Given the description of an element on the screen output the (x, y) to click on. 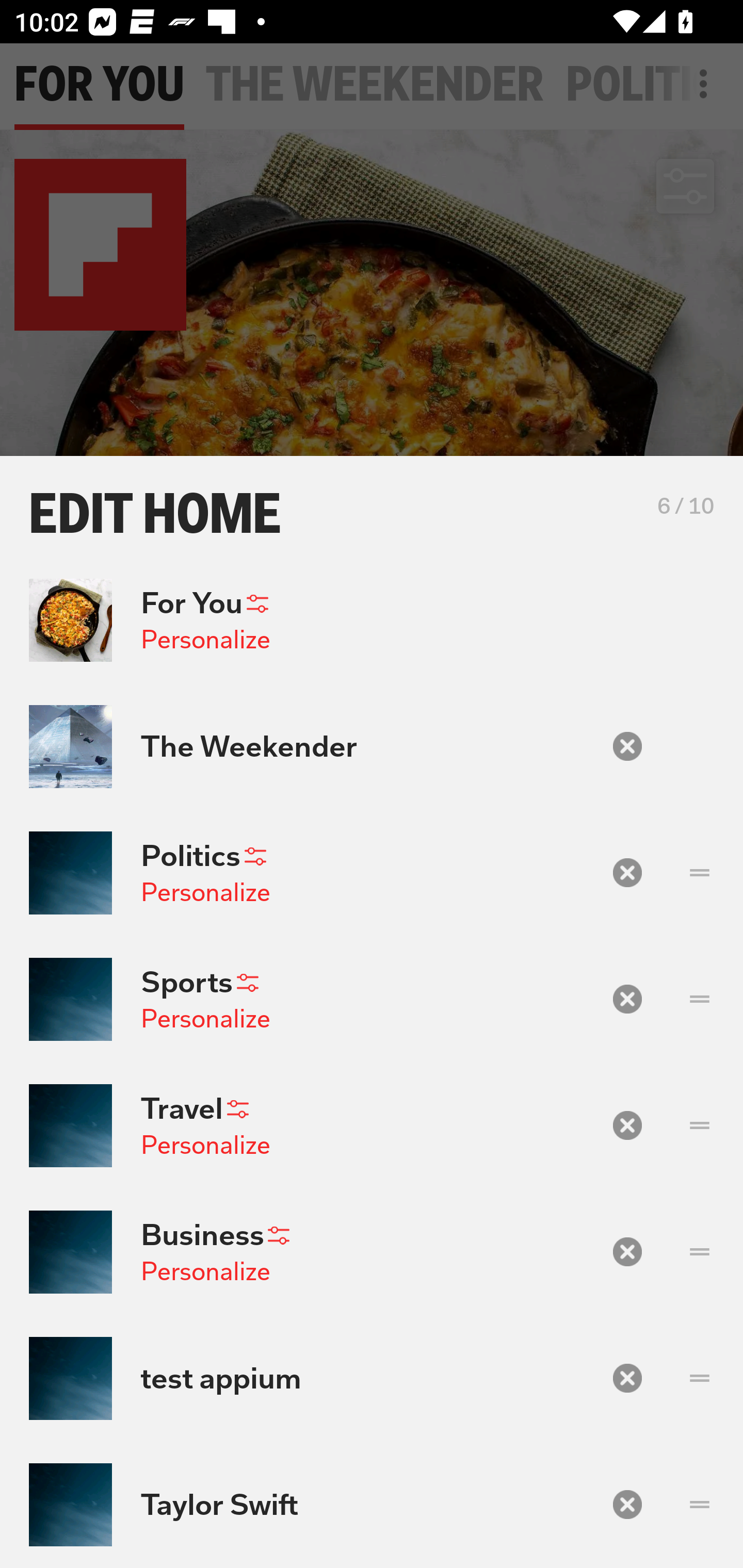
Personalize (205, 639)
Personalize (205, 891)
Personalize (205, 1018)
Personalize (205, 1144)
Personalize (205, 1271)
